Given the description of an element on the screen output the (x, y) to click on. 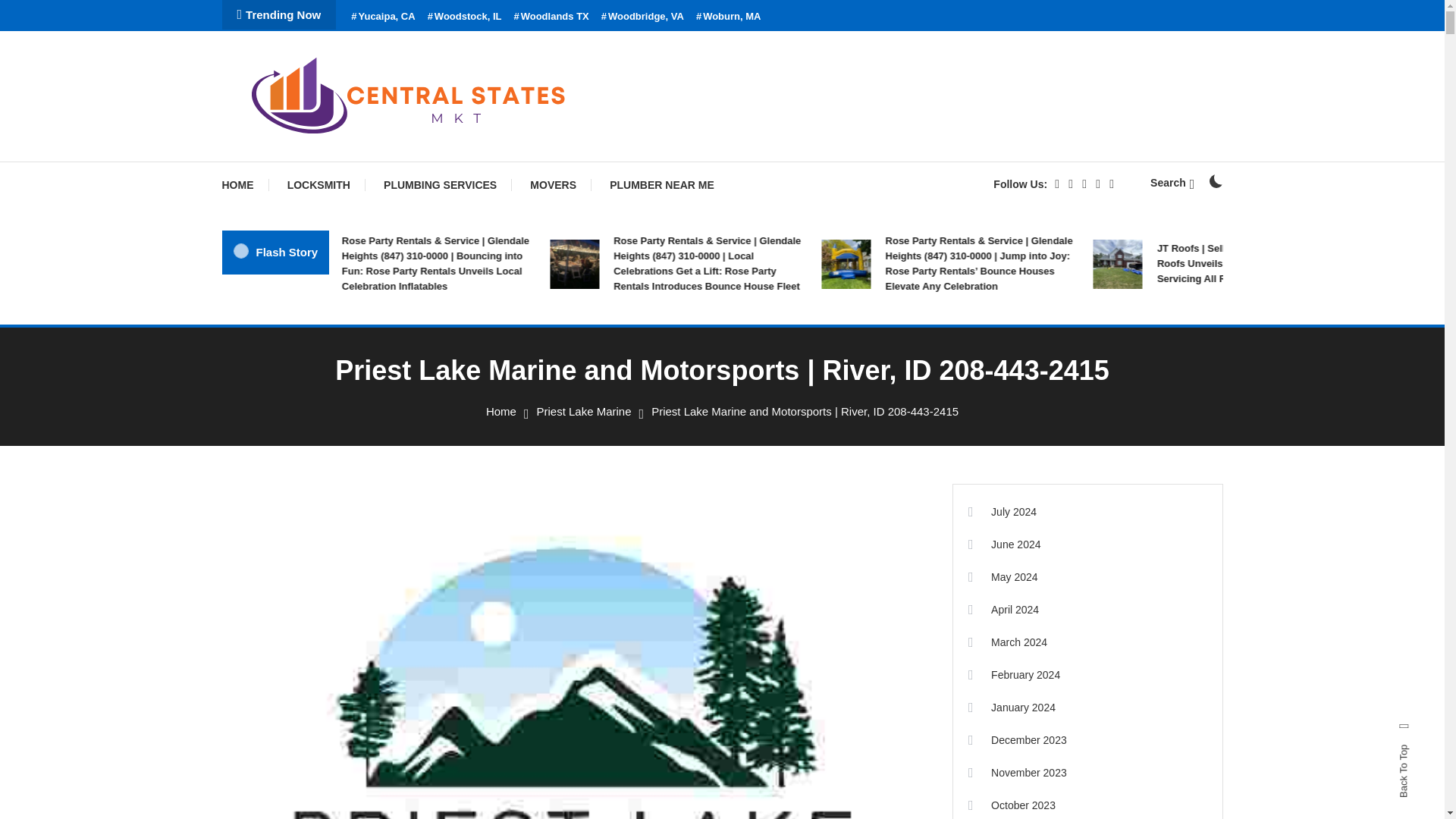
HOME (244, 185)
on (1215, 181)
Woburn, MA (728, 16)
Search (768, 434)
Woodbridge, VA (642, 16)
Woodlands TX (550, 16)
MOVERS (553, 185)
Yucaipa, CA (382, 16)
Woodstock, IL (465, 16)
PLUMBING SERVICES (440, 185)
Search (1171, 182)
LOCKSMITH (318, 185)
PLUMBER NEAR ME (661, 185)
